Given the description of an element on the screen output the (x, y) to click on. 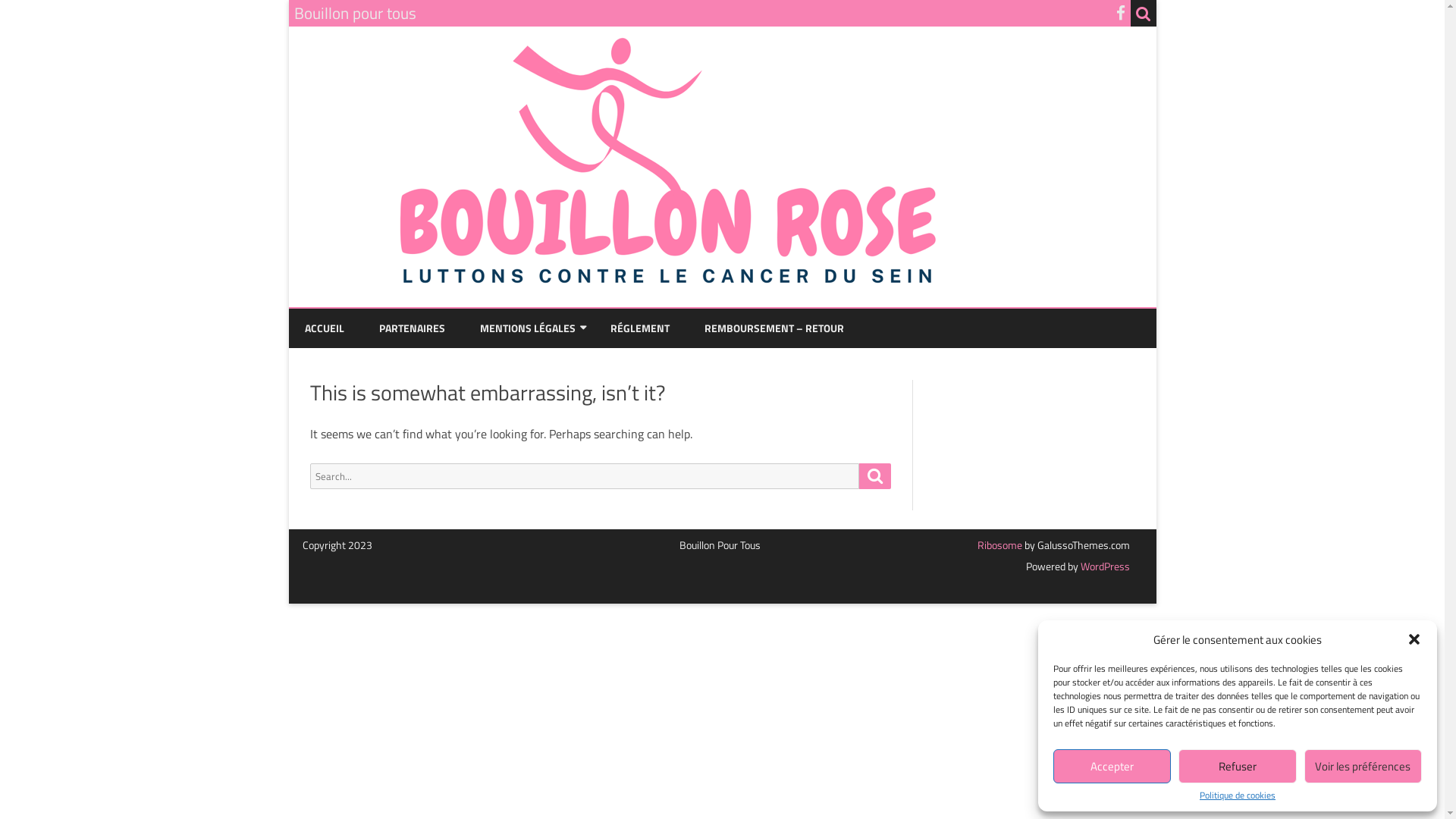
Ribosome Element type: text (999, 544)
POLITIQUE DE COOKIES (UE) Element type: text (554, 363)
WordPress Element type: text (1103, 566)
ACCUEIL Element type: text (324, 328)
Accepter Element type: text (1111, 766)
Search for: Element type: hover (584, 476)
Refuser Element type: text (1236, 766)
Politique de cookies Element type: text (1237, 795)
Skip to content Element type: text (721, 308)
Facebook Element type: hover (1120, 12)
Search Element type: text (875, 476)
PARTENAIRES Element type: text (412, 328)
